Given the description of an element on the screen output the (x, y) to click on. 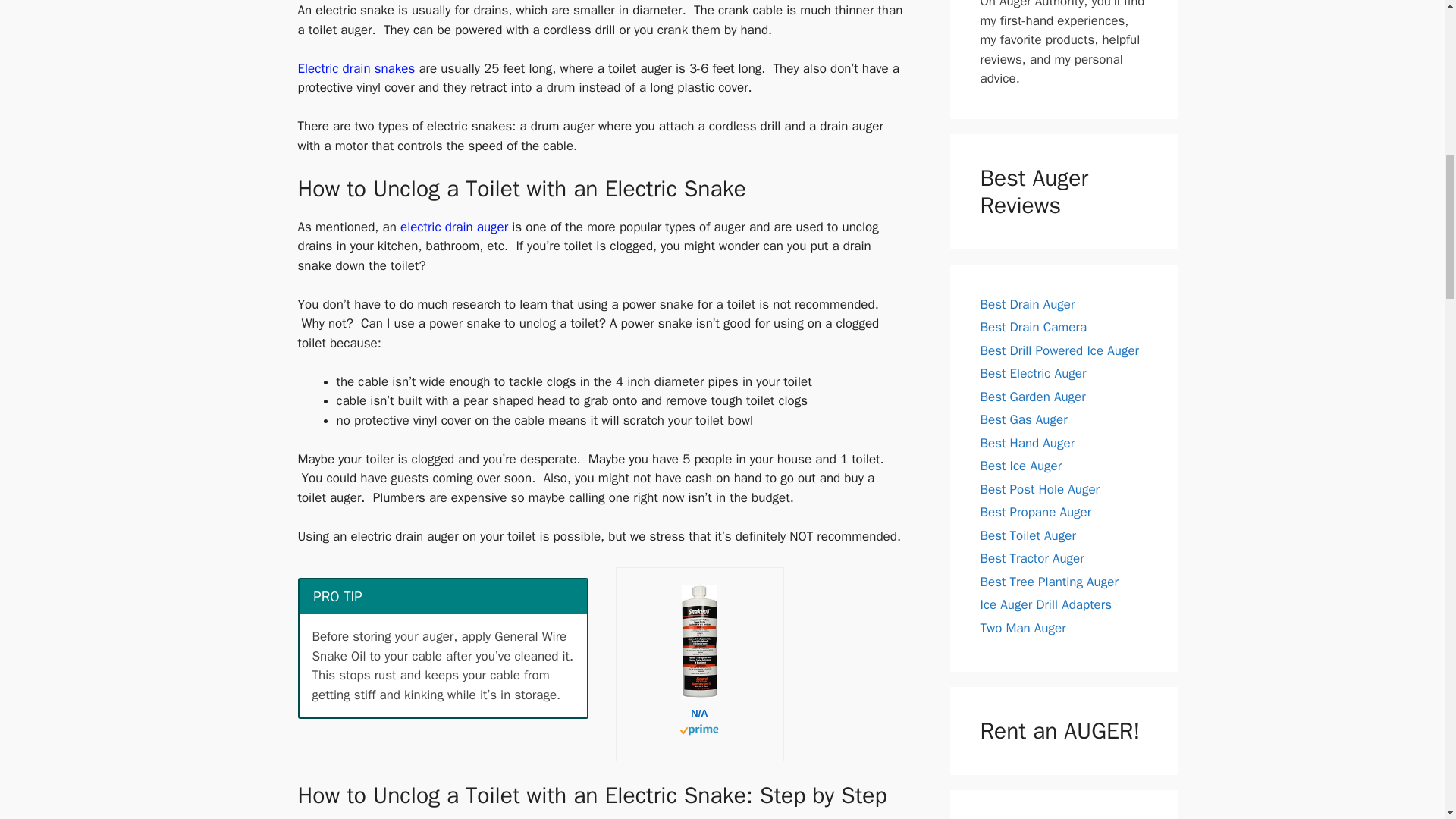
electric drain auger (454, 227)
Electric drain snakes (355, 68)
Best Drain Auger (1026, 304)
Best Drill Powered Ice Auger (1058, 350)
Best Drain Camera (1032, 326)
